Given the description of an element on the screen output the (x, y) to click on. 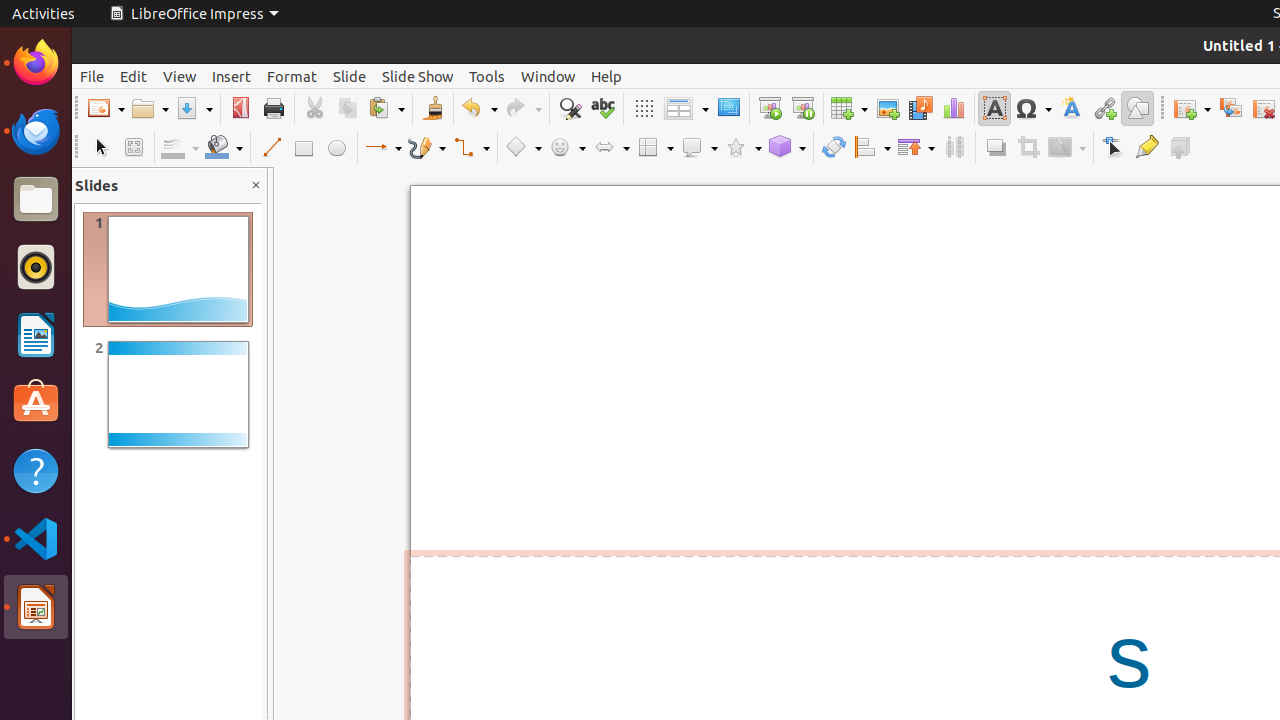
Image Element type: push-button (887, 108)
Shadow Element type: toggle-button (995, 147)
Rectangle Element type: push-button (303, 147)
Arrange Element type: push-button (916, 147)
Spelling Element type: push-button (602, 108)
